Given the description of an element on the screen output the (x, y) to click on. 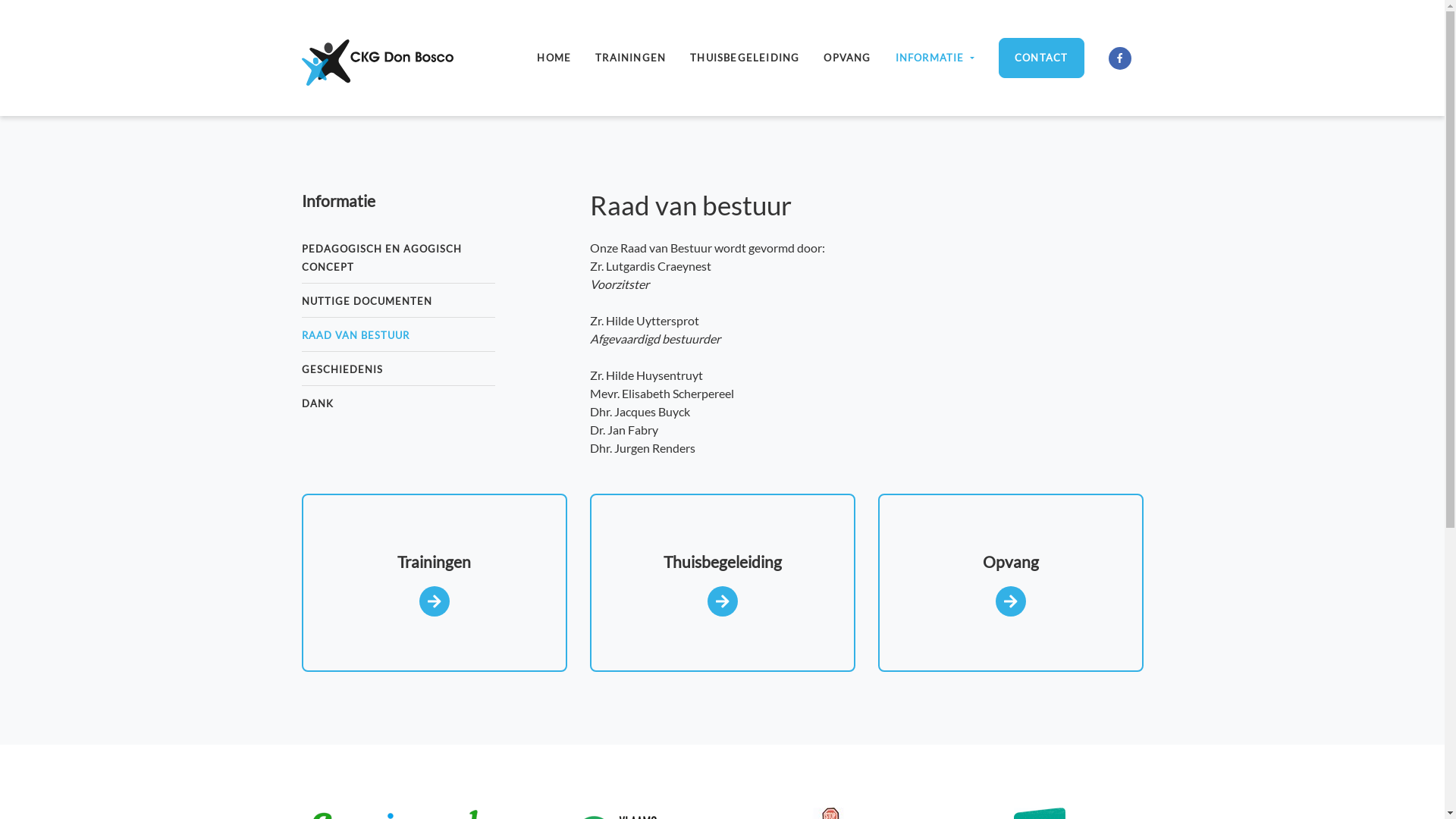
PEDAGOGISCH EN AGOGISCH CONCEPT Element type: text (381, 257)
CONTACT Element type: text (1040, 57)
HOME Element type: text (553, 57)
DANK Element type: text (317, 403)
THUISBEGELEIDING Element type: text (744, 57)
RAAD VAN BESTUUR Element type: text (355, 335)
NUTTIGE DOCUMENTEN Element type: text (366, 300)
GESCHIEDENIS Element type: text (341, 369)
OPVANG Element type: text (846, 57)
TRAININGEN Element type: text (630, 57)
INFORMATIE Element type: text (935, 57)
